Given the description of an element on the screen output the (x, y) to click on. 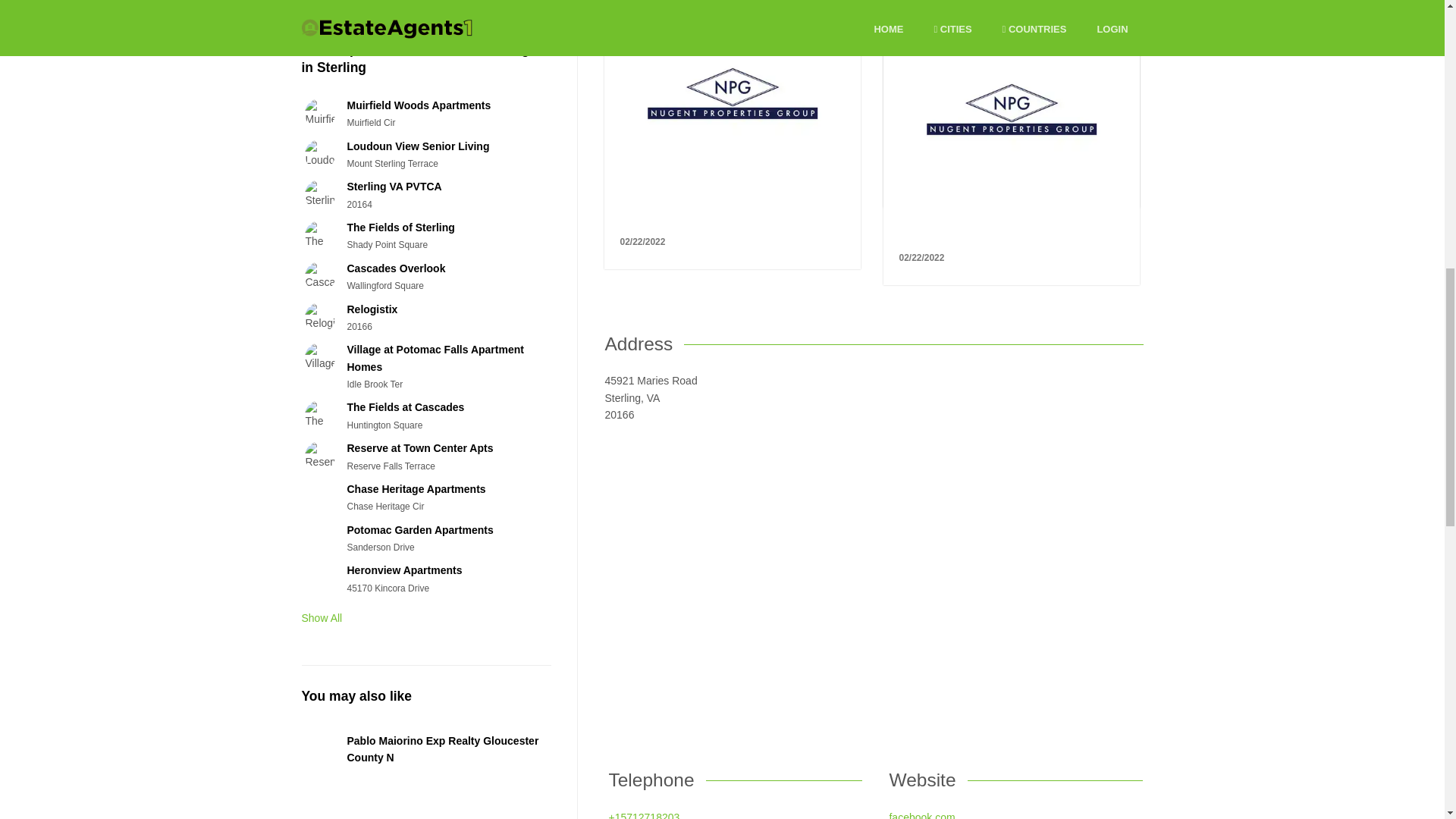
Relogistix (371, 309)
The Fields of Sterling (400, 227)
Chase Heritage Apartments (415, 489)
Show All (321, 617)
The Fields at Cascades (405, 407)
Village at Potomac Falls Apartment Homes (434, 357)
Loudoun View Senior Living (417, 146)
Reserve at Town Center Apts (419, 448)
Cascades Overlook (395, 268)
facebook.com (921, 815)
